Given the description of an element on the screen output the (x, y) to click on. 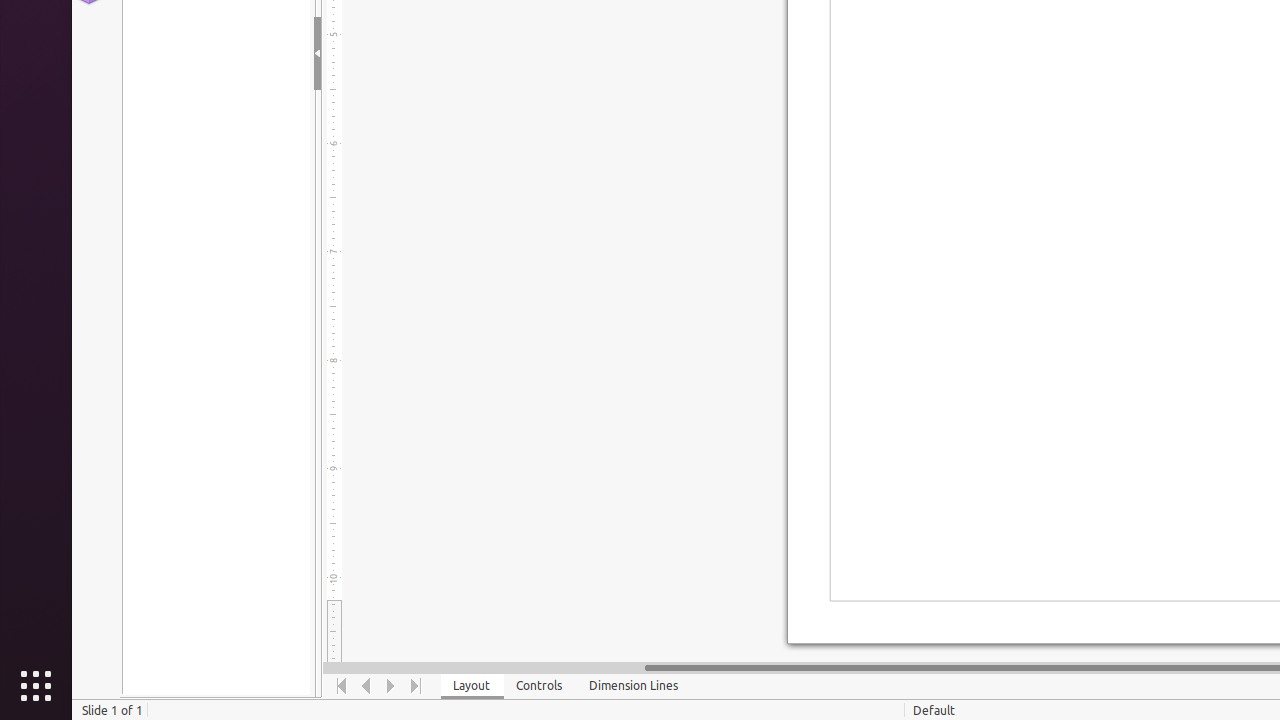
Move To Home Element type: push-button (341, 686)
Move To End Element type: push-button (416, 686)
Move Right Element type: push-button (391, 686)
